Given the description of an element on the screen output the (x, y) to click on. 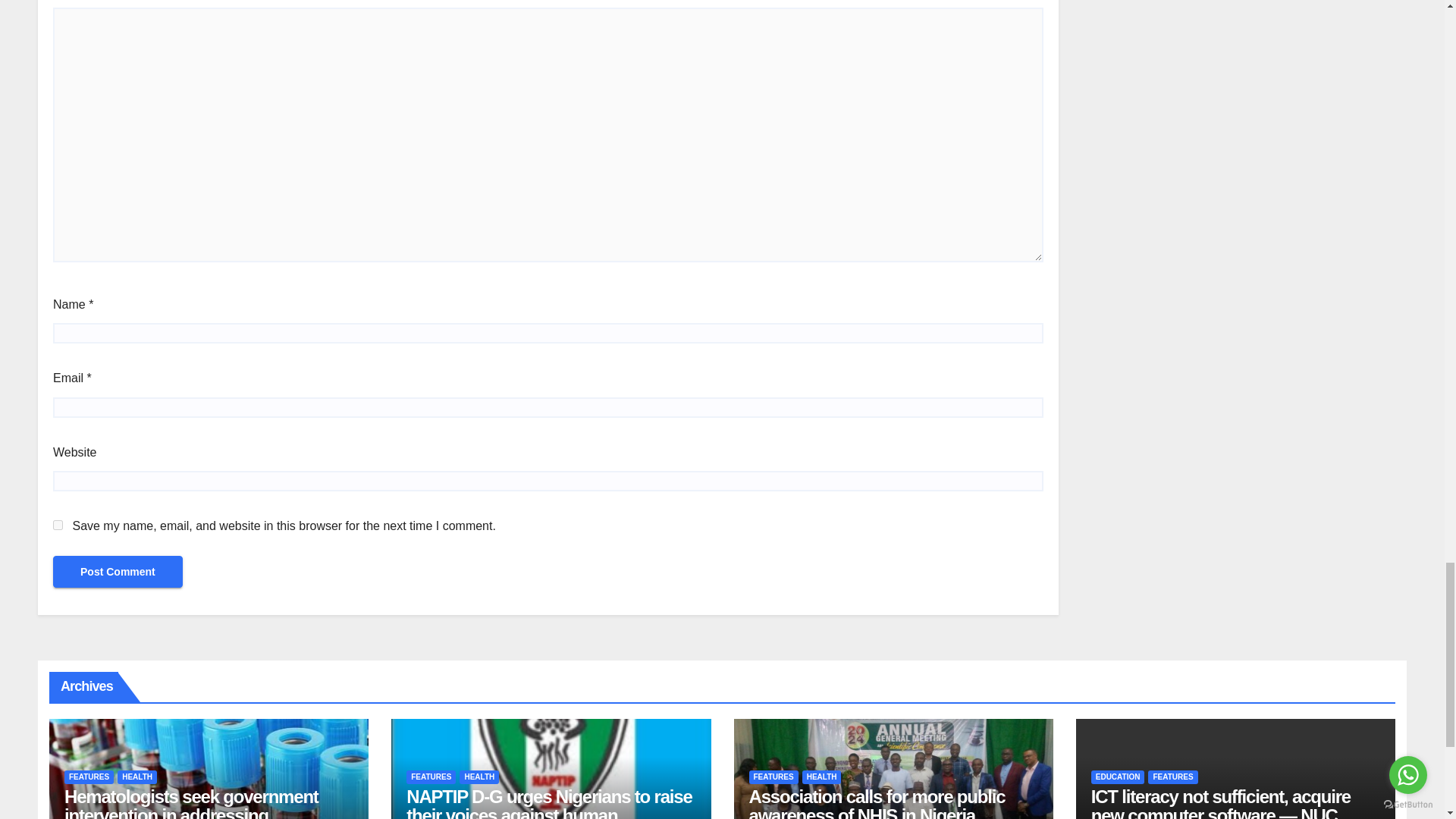
Post Comment (117, 572)
yes (57, 524)
Post Comment (117, 572)
